Given the description of an element on the screen output the (x, y) to click on. 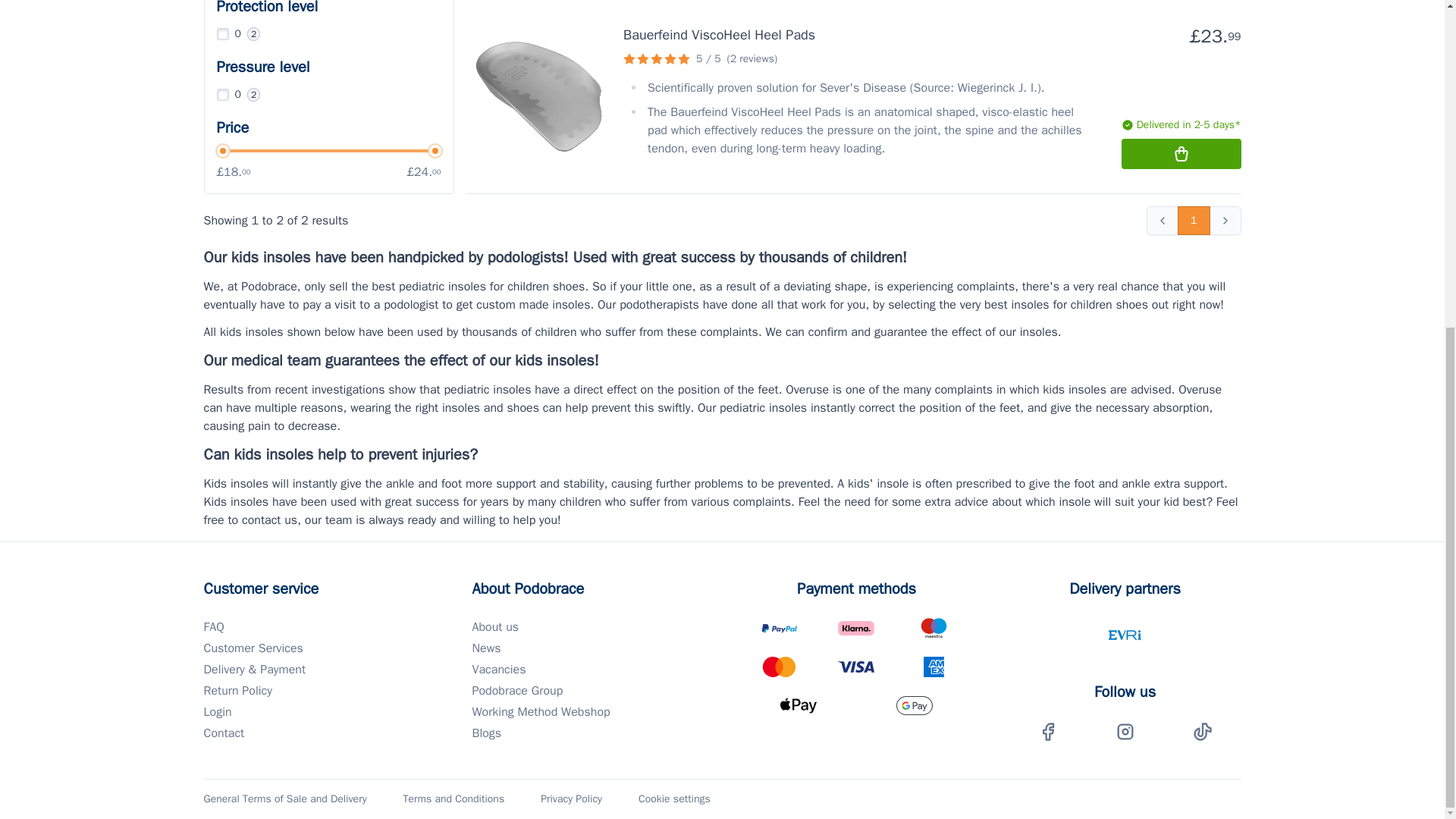
FAQ (319, 627)
Customer Services (319, 648)
Previous (1162, 220)
Next (1224, 220)
1 (1193, 220)
